Given the description of an element on the screen output the (x, y) to click on. 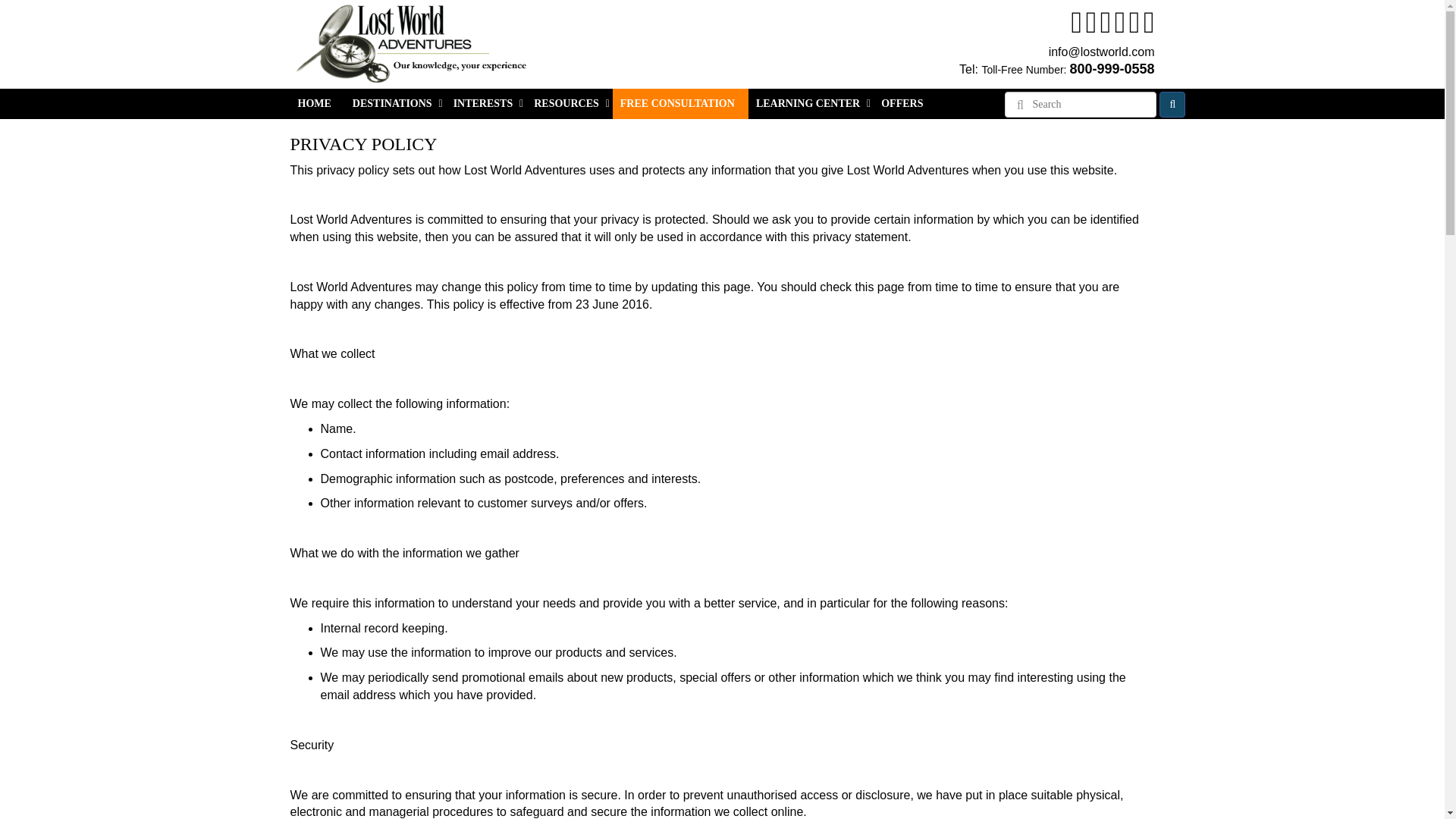
HOME (316, 103)
800-999-0558 (1111, 69)
DESTINATIONS (395, 103)
